Given the description of an element on the screen output the (x, y) to click on. 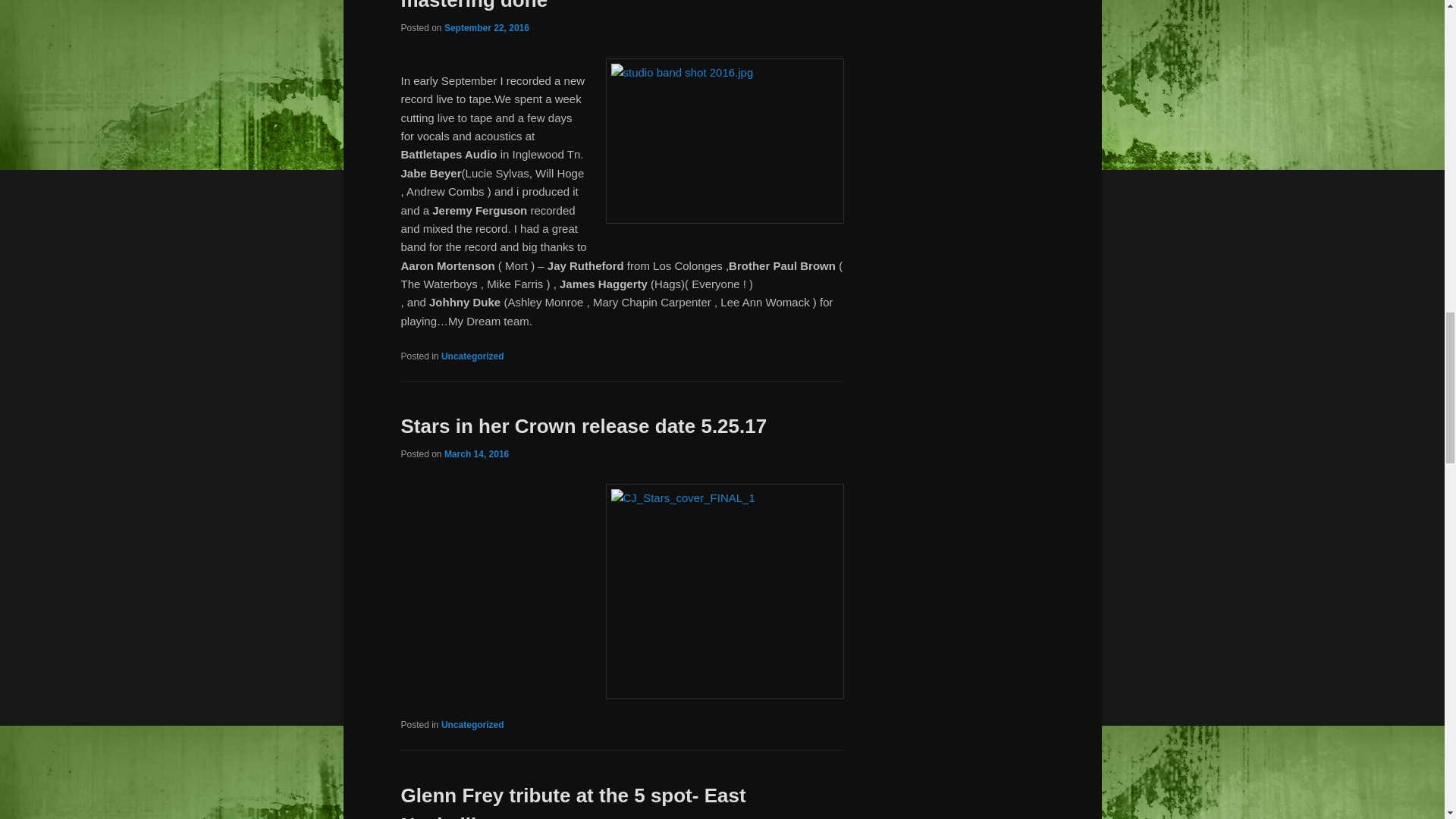
New Record coming early 2017- mixing -mastering done (589, 5)
6:52 pm (476, 453)
12:22 am (486, 27)
Uncategorized (472, 356)
September 22, 2016 (486, 27)
